Given the description of an element on the screen output the (x, y) to click on. 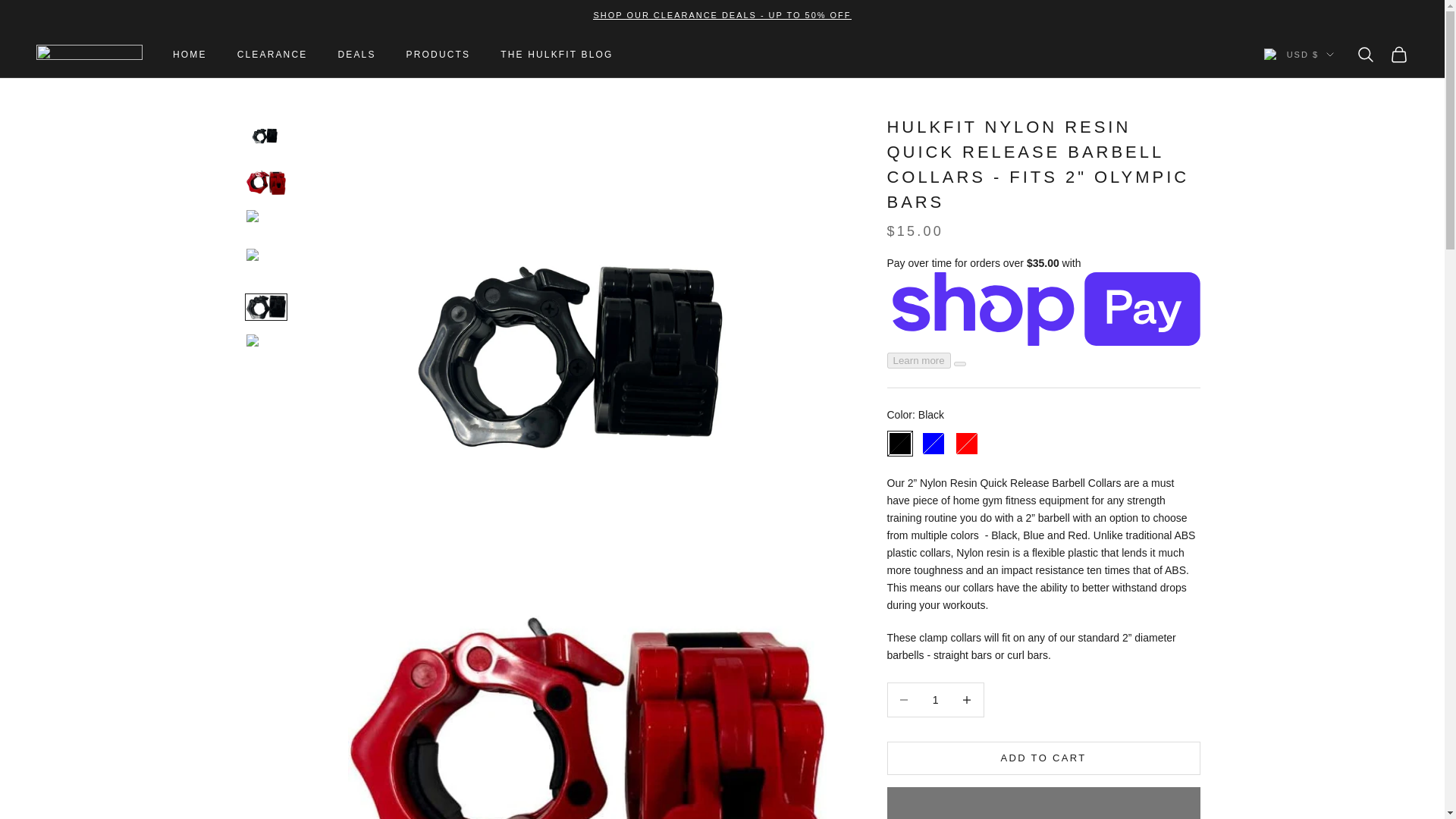
HOME (189, 54)
CLEARANCE (272, 54)
DEALS (356, 54)
1 (935, 699)
Open search (1365, 54)
Open cart (1398, 54)
THE HULKFIT BLOG (556, 54)
Hulkfit Products (89, 54)
CLEARANCE (721, 14)
